Given the description of an element on the screen output the (x, y) to click on. 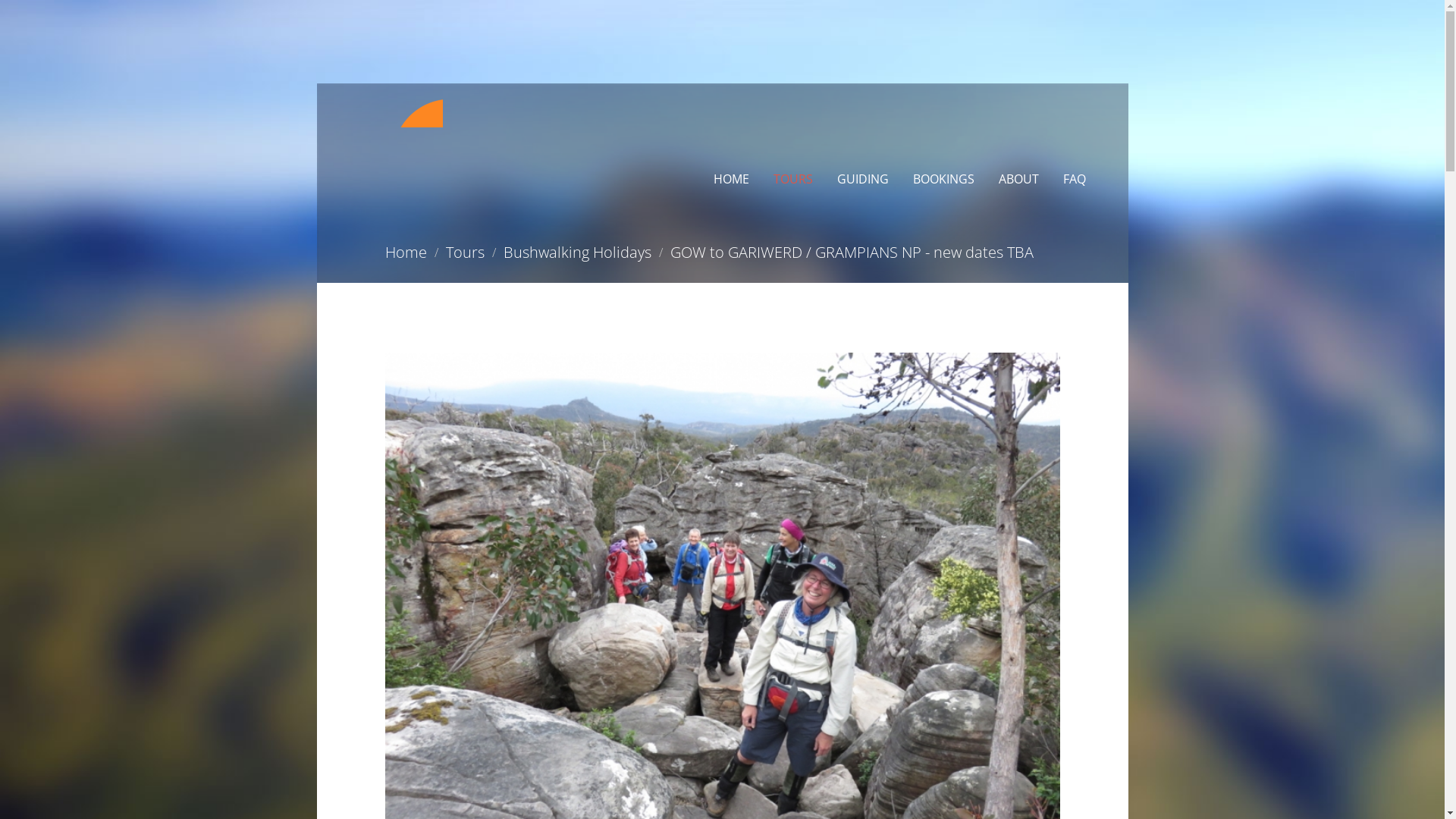
Tours Element type: text (464, 251)
BOOKINGS Element type: text (943, 178)
FAQ Element type: text (1074, 178)
Bluap Element type: text (394, 112)
Bushwalking Holidays Element type: text (577, 251)
GUIDING Element type: text (862, 178)
Home Element type: text (405, 251)
ABOUT Element type: text (1017, 178)
TOURS Element type: text (793, 178)
HOME Element type: text (730, 178)
